Given the description of an element on the screen output the (x, y) to click on. 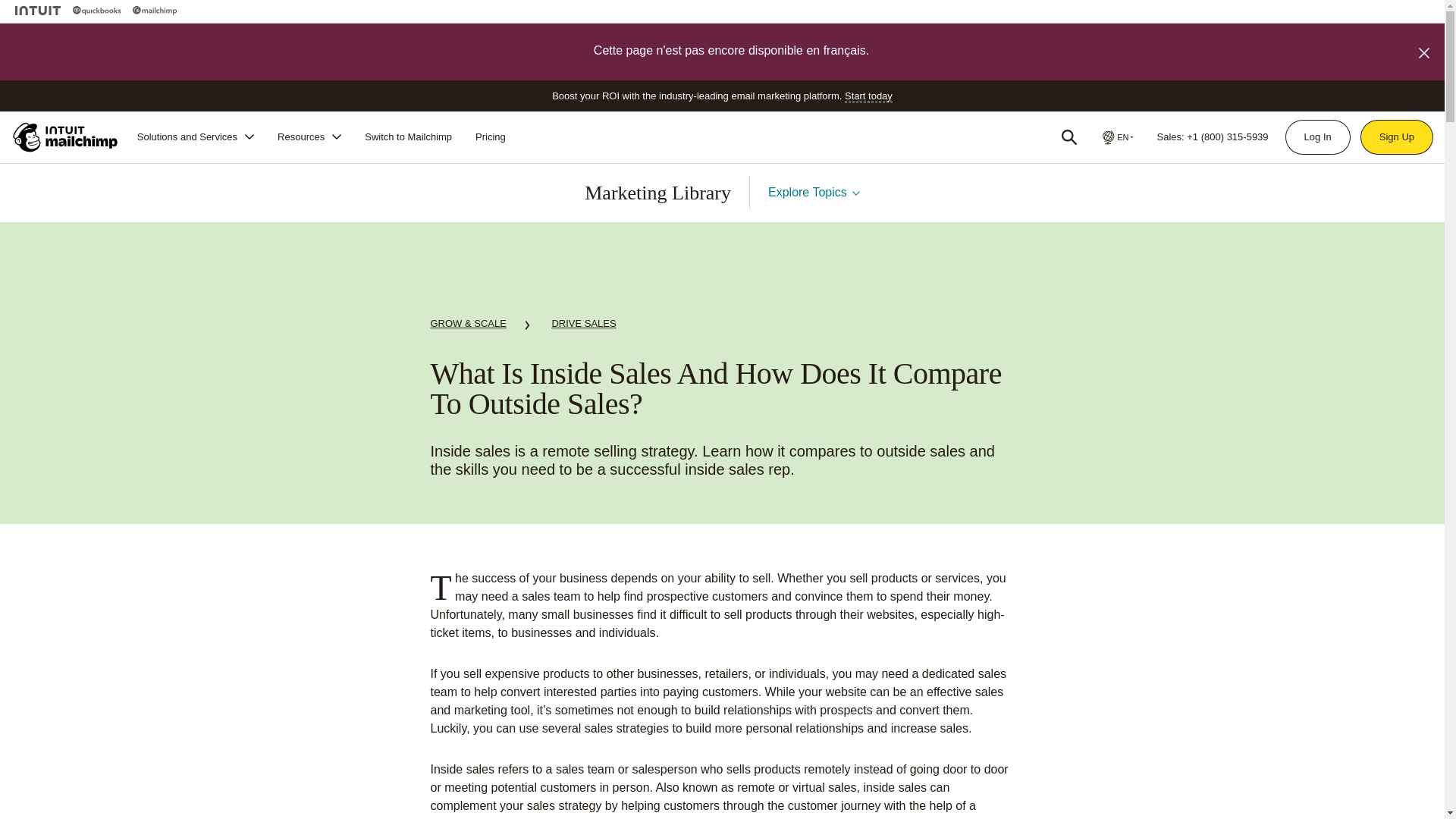
Pricing (490, 137)
Resources (308, 137)
Solutions and Services (195, 137)
Explore Topics (814, 192)
Search (1069, 136)
Start today (868, 96)
Marketing Library (657, 192)
Switch to Mailchimp (408, 137)
Log In (1317, 136)
Sign Up (1396, 136)
